Given the description of an element on the screen output the (x, y) to click on. 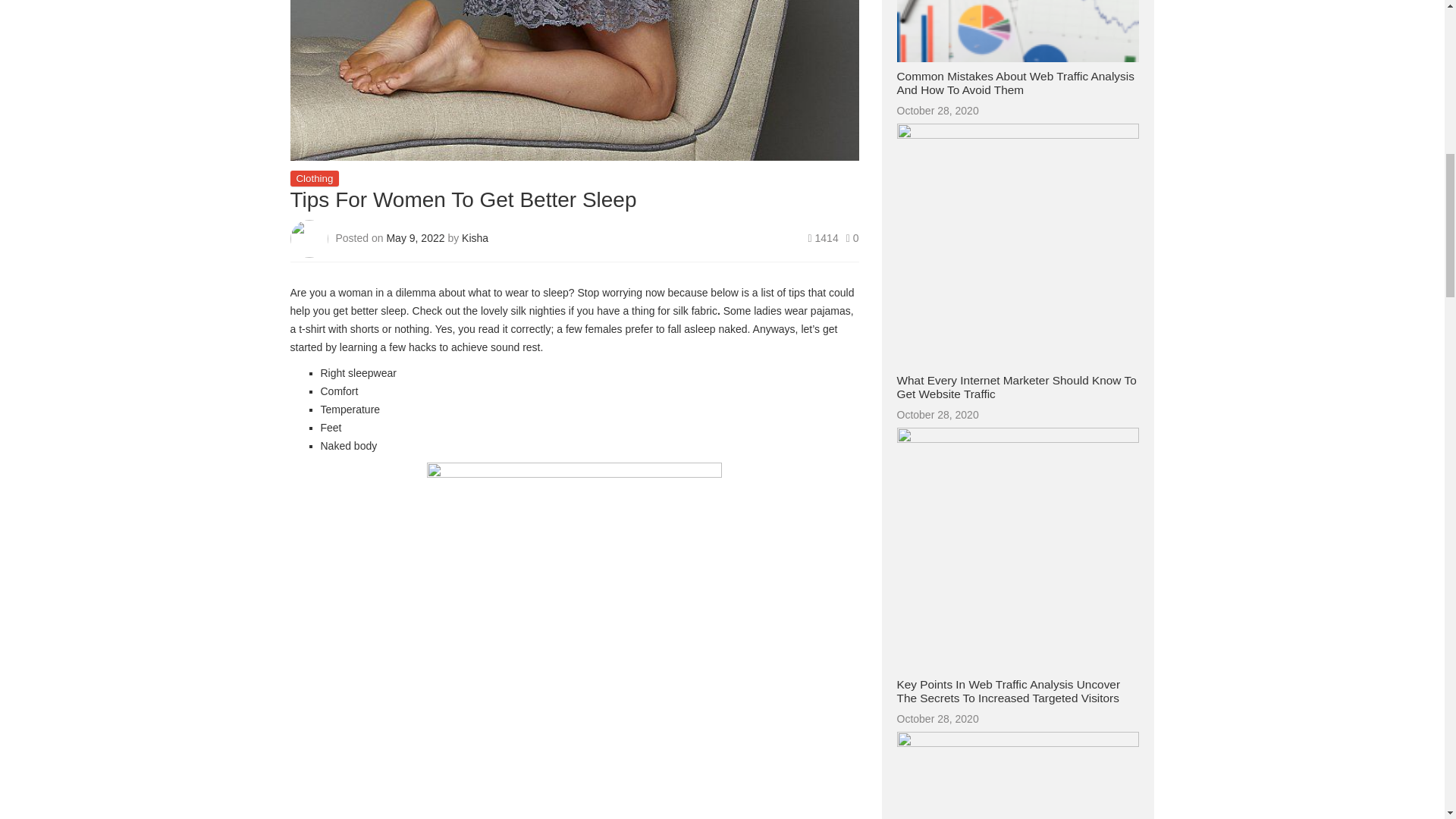
0 (852, 237)
May 9, 2022 (415, 236)
Kisha (474, 236)
Clothing (314, 178)
